Given the description of an element on the screen output the (x, y) to click on. 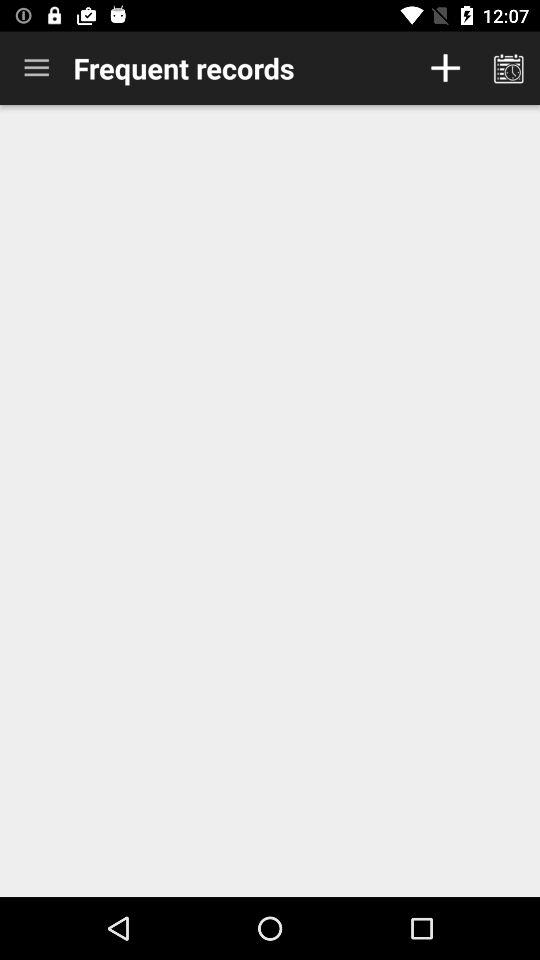
add record (445, 67)
